Given the description of an element on the screen output the (x, y) to click on. 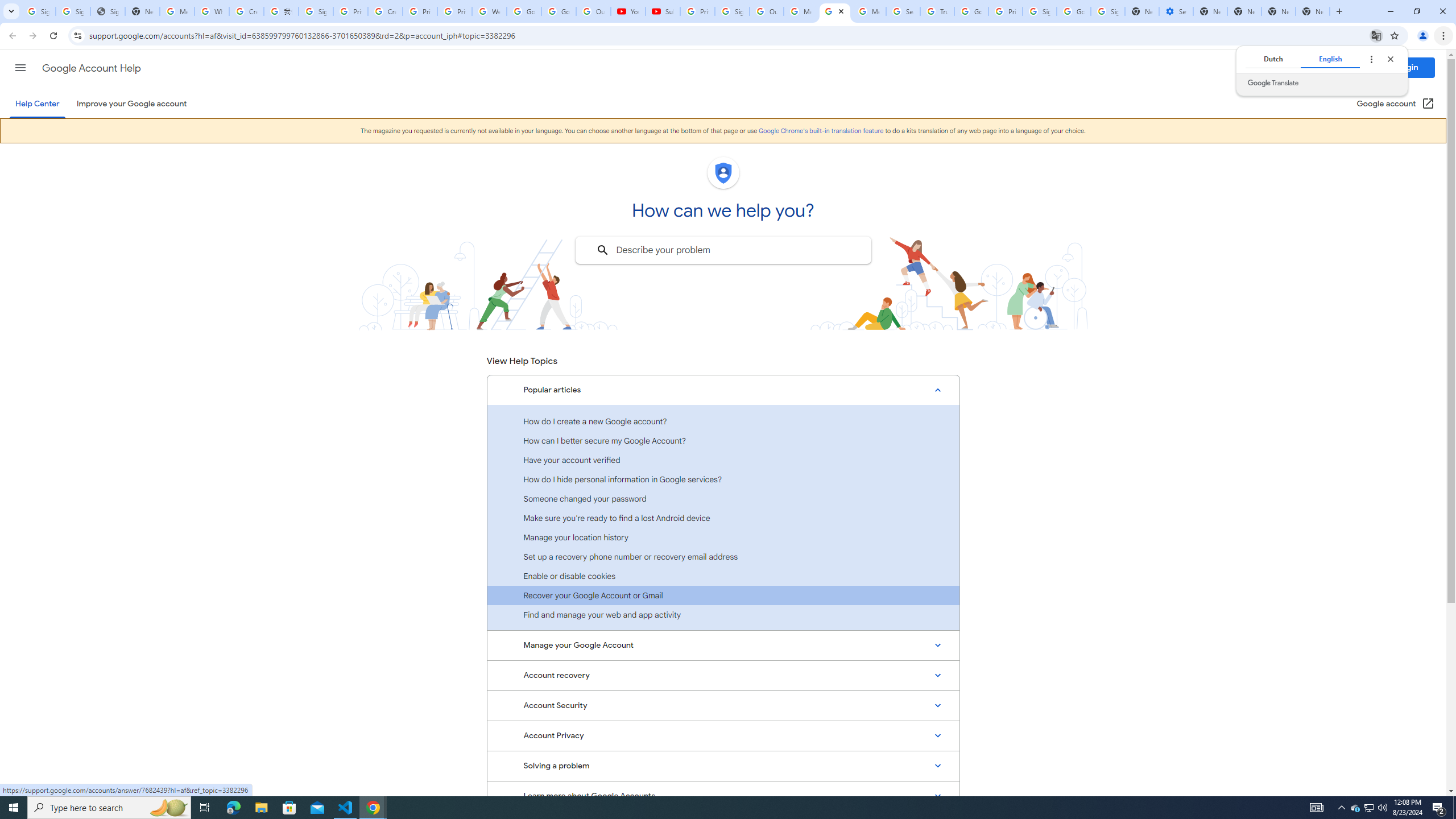
Create your Google Account (384, 11)
Sign in - Google Accounts (732, 11)
English (1329, 58)
Translate options (1370, 58)
Make sure you're ready to find a lost Android device (722, 517)
Sign in - Google Accounts (38, 11)
Main menu (20, 67)
